Given the description of an element on the screen output the (x, y) to click on. 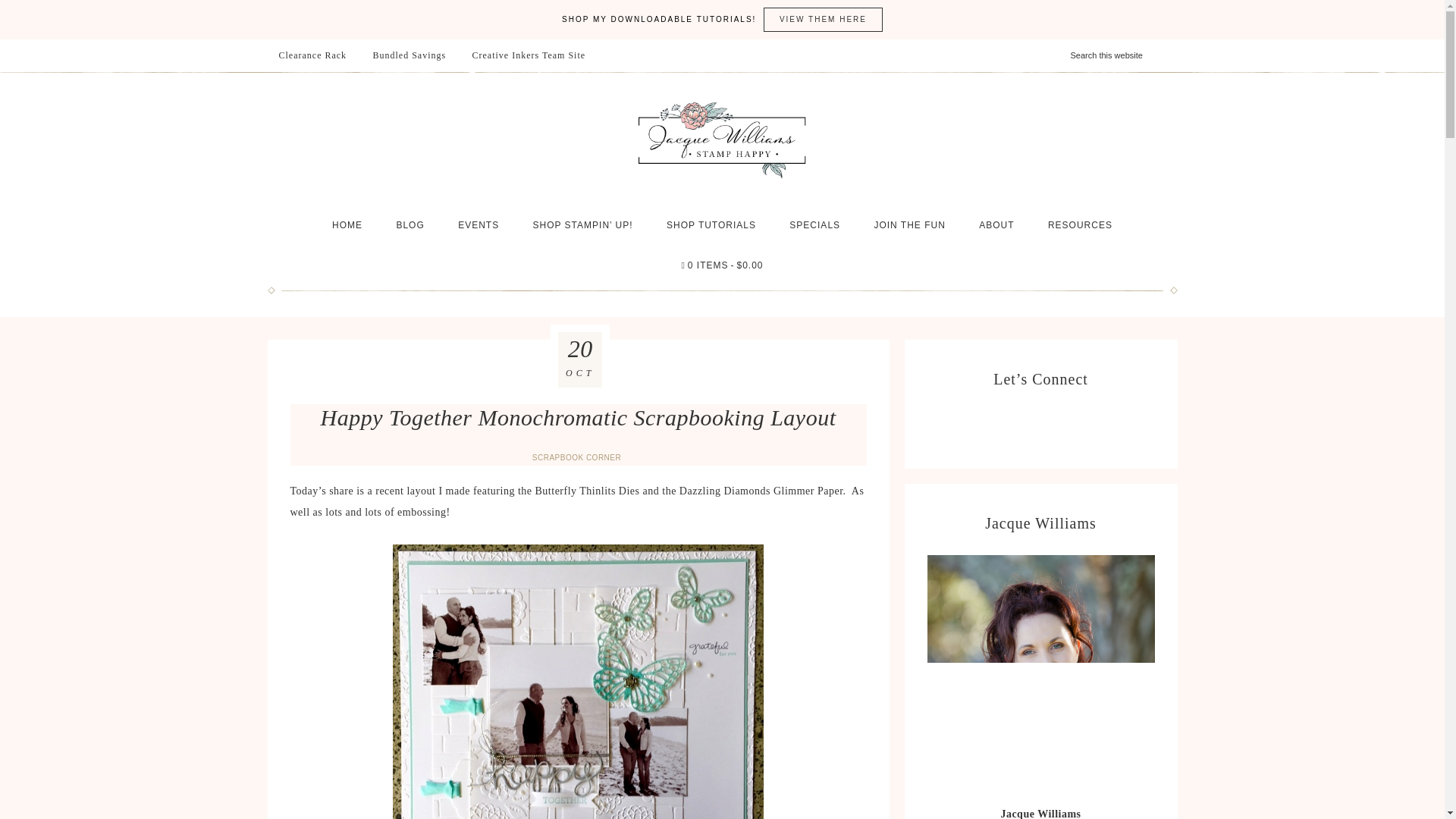
BLOG (409, 224)
SCRAPBOOK CORNER (578, 457)
Creative Inkers Team Site (528, 55)
Clearance Rack (312, 55)
Start shopping (721, 265)
ABOUT (996, 224)
STAMP HAPPY, JACQUE WILLIAMS, STAMPIN' UP! DEMONSTRATOR (722, 138)
Bundled Savings (409, 55)
